Given the description of an element on the screen output the (x, y) to click on. 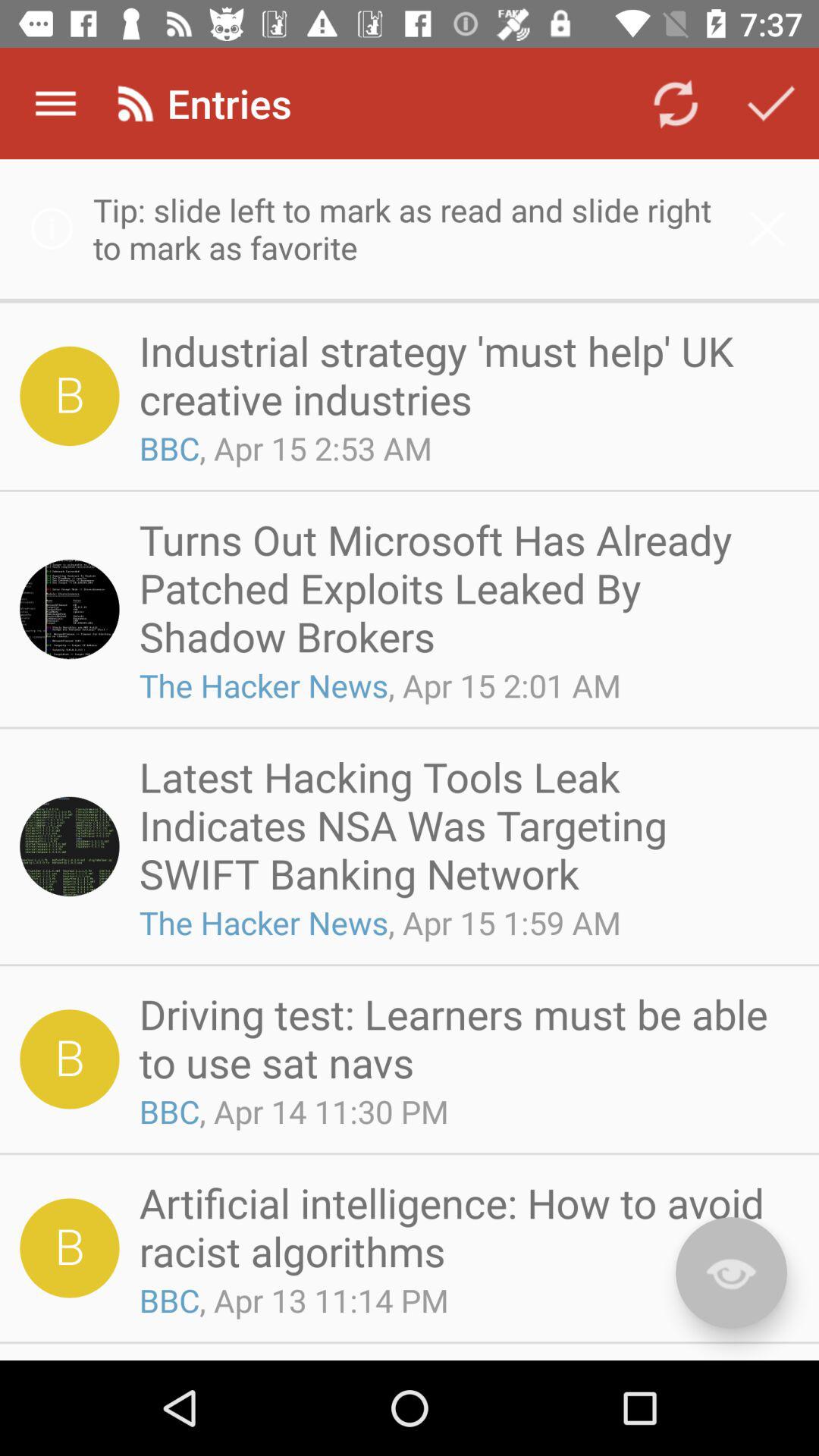
press the icon below the bbc apr 14 item (463, 1226)
